Given the description of an element on the screen output the (x, y) to click on. 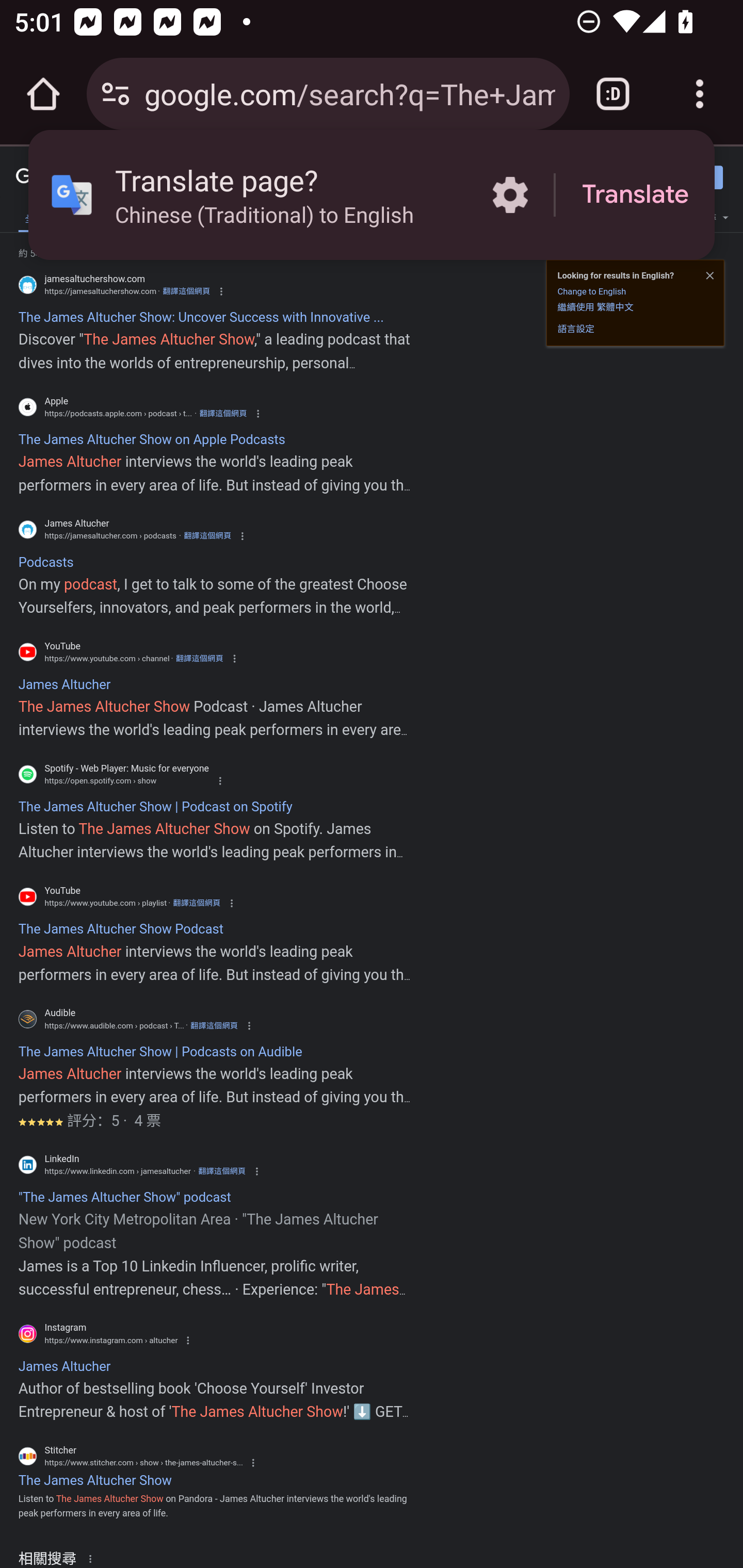
Open the home page (43, 93)
Connection is secure (115, 93)
Switch or close tabs (612, 93)
Customize and control Google Chrome (699, 93)
Translate (634, 195)
More options in the Translate page? (509, 195)
翻譯這個網頁 (185, 291)
Change to English (591, 291)
繼續使用 繁體中文 繼續使用  繁體中文 (595, 306)
語言設定 (576, 328)
翻譯這個網頁 (223, 413)
翻譯這個網頁 (207, 535)
翻譯這個網頁 (199, 658)
翻譯這個網頁 (196, 902)
翻譯這個網頁 (213, 1025)
翻譯這個網頁 (221, 1171)
關於此結果 (93, 1557)
